Given the description of an element on the screen output the (x, y) to click on. 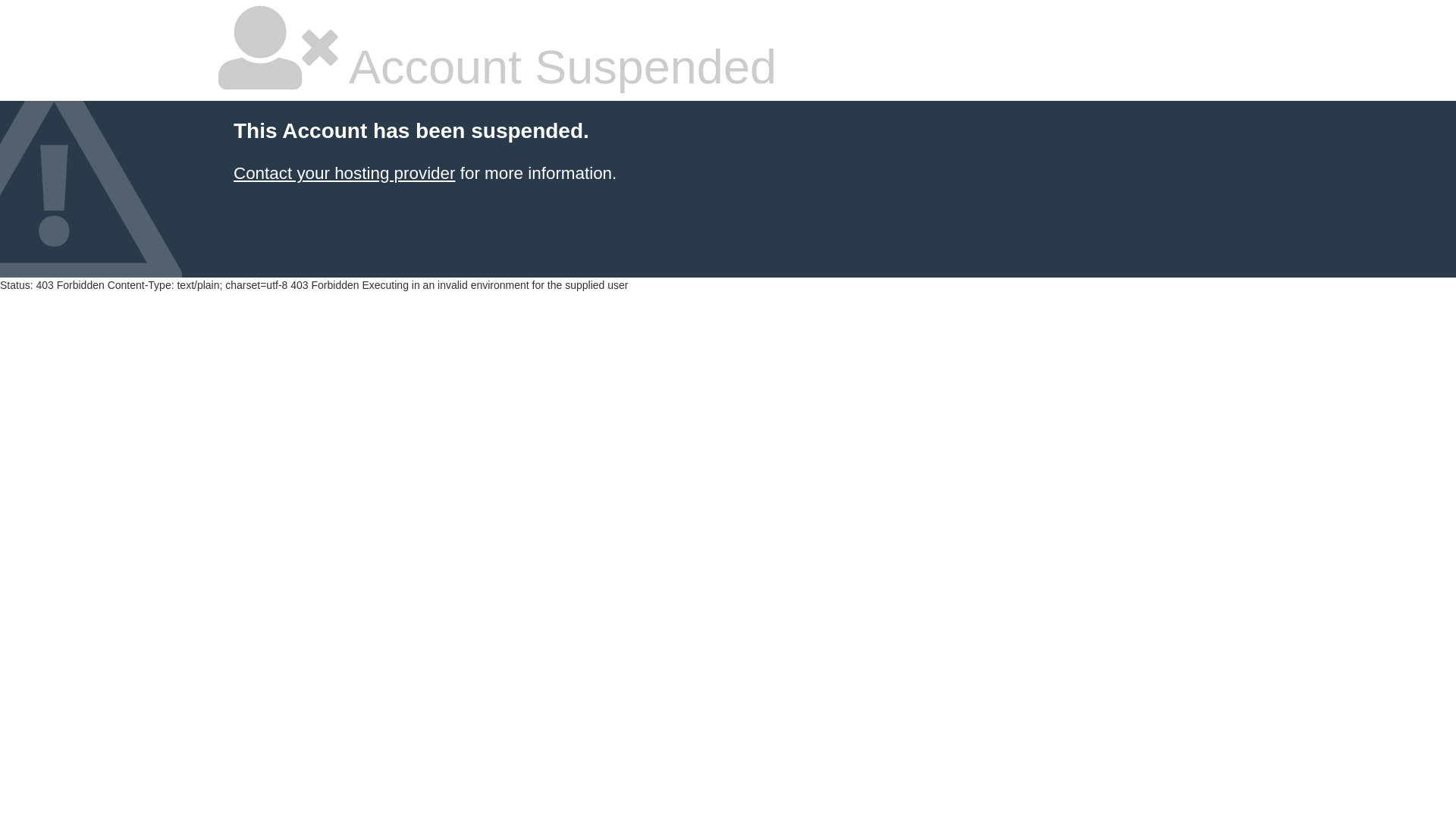
Contact your hosting provider Element type: text (344, 172)
